Given the description of an element on the screen output the (x, y) to click on. 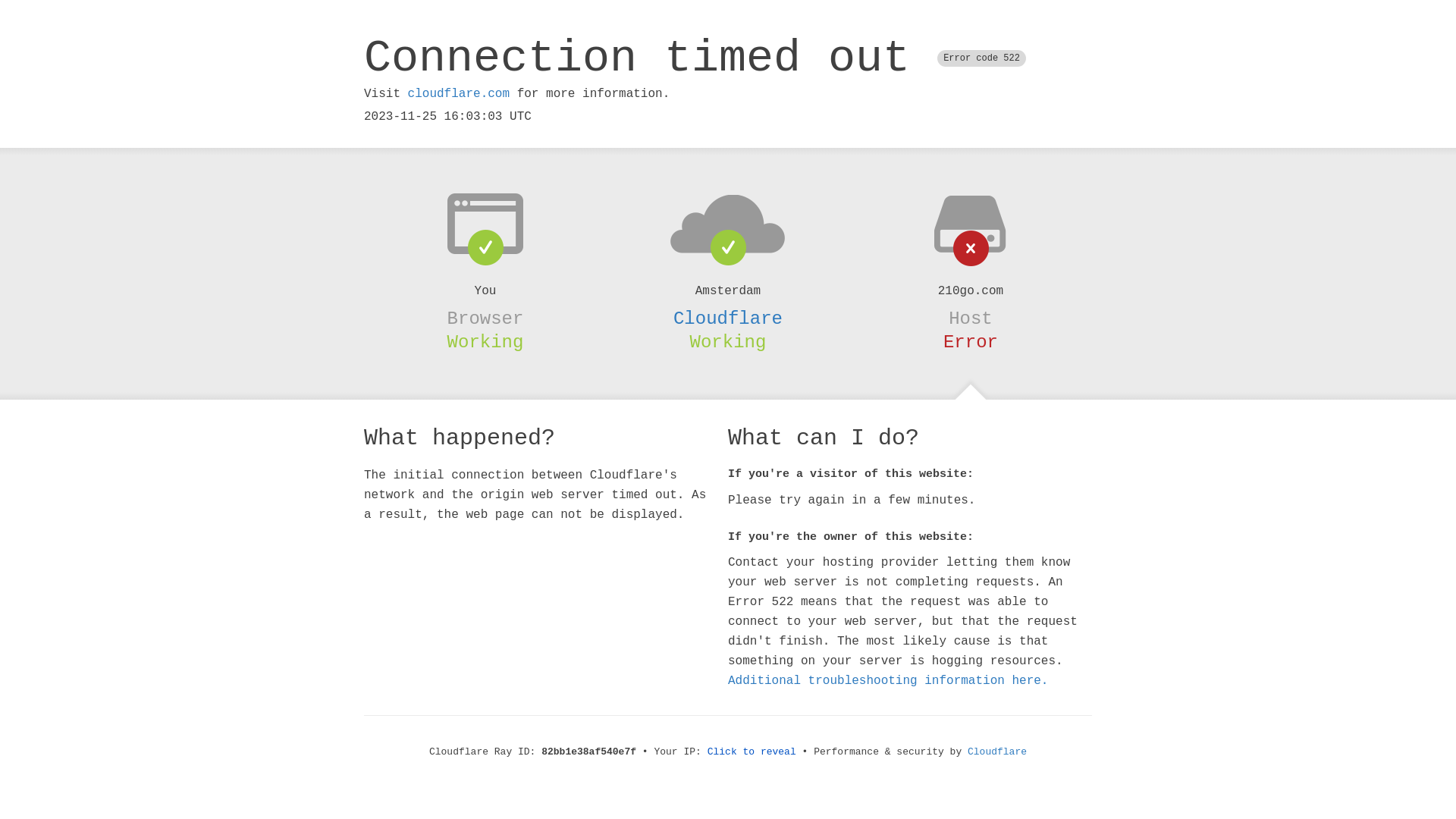
cloudflare.com Element type: text (458, 93)
Cloudflare Element type: text (727, 318)
Click to reveal Element type: text (751, 751)
Cloudflare Element type: text (996, 751)
Additional troubleshooting information here. Element type: text (888, 680)
